Given the description of an element on the screen output the (x, y) to click on. 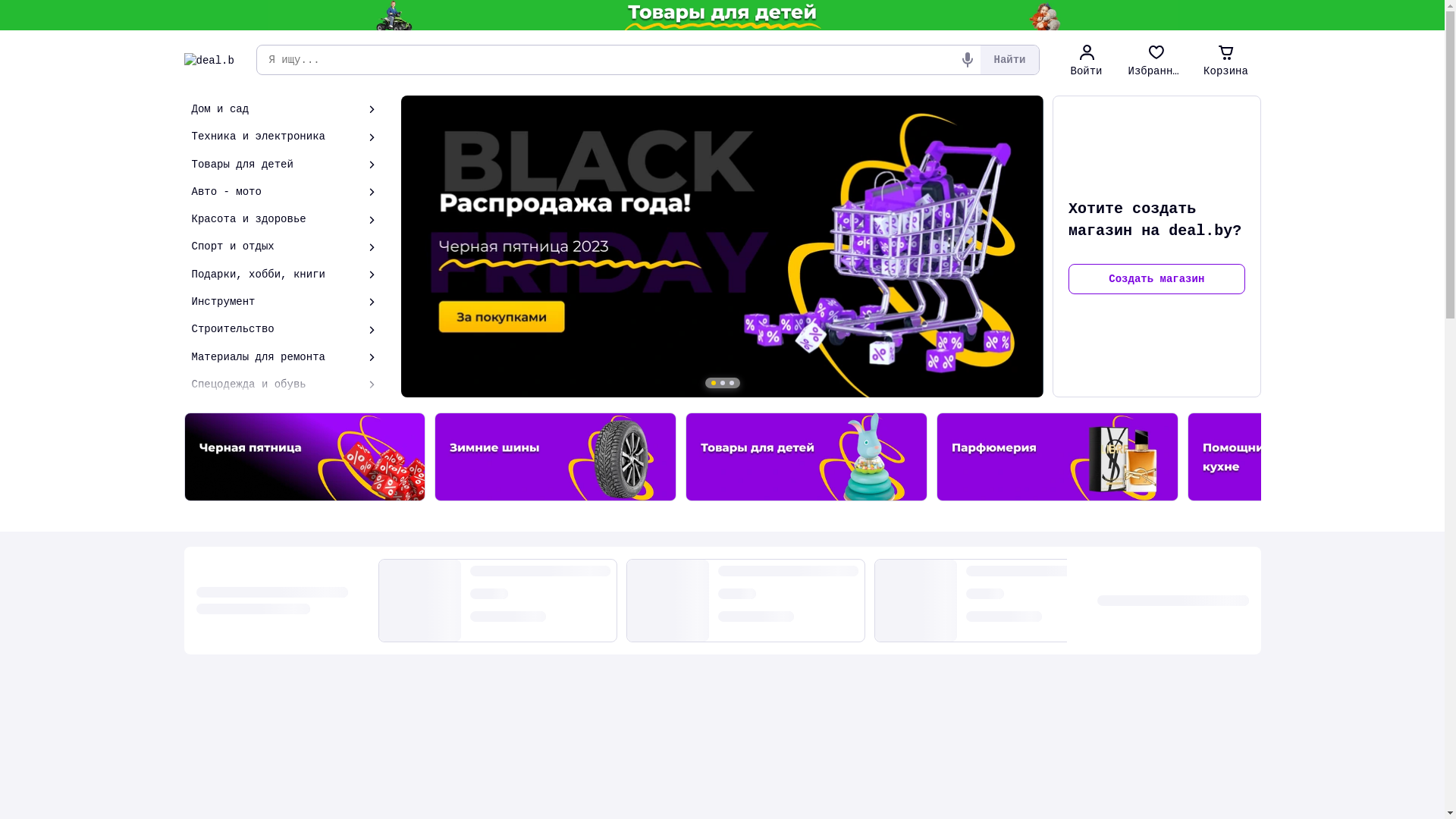
3 Element type: text (731, 382)
1 Element type: text (713, 382)
2 Element type: text (722, 382)
deal.by Element type: hover (208, 59)
